Given the description of an element on the screen output the (x, y) to click on. 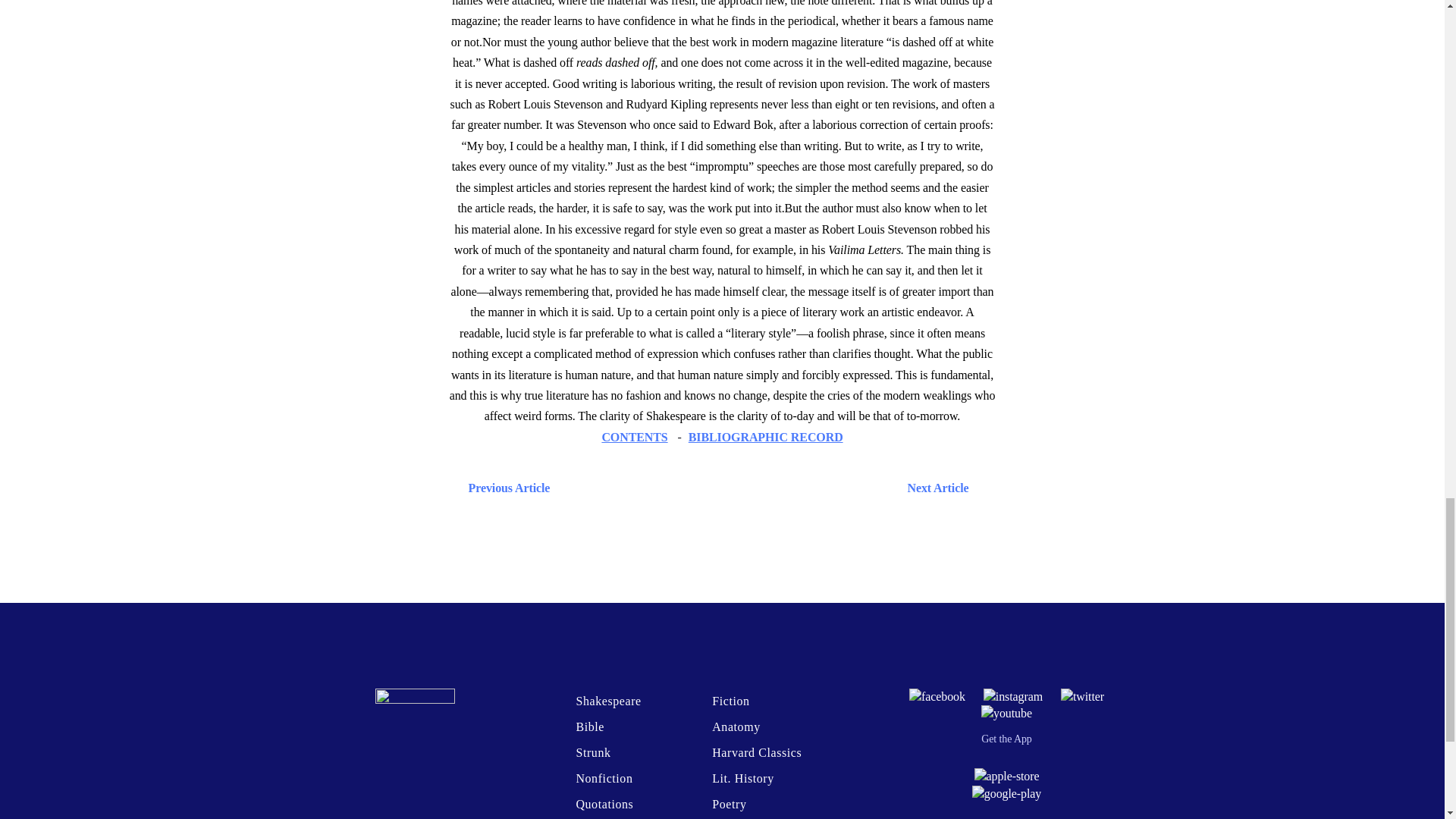
Fiction (730, 700)
CONTENTS (633, 436)
Next Article (766, 487)
Poetry (728, 803)
Previous Article (505, 487)
Bible (589, 726)
Lit. History (742, 778)
Anatomy (735, 726)
BIBLIOGRAPHIC RECORD (765, 436)
Nonfiction (603, 778)
Harvard Classics (756, 752)
Quotations (604, 803)
Shakespeare (607, 700)
Strunk (592, 752)
